Given the description of an element on the screen output the (x, y) to click on. 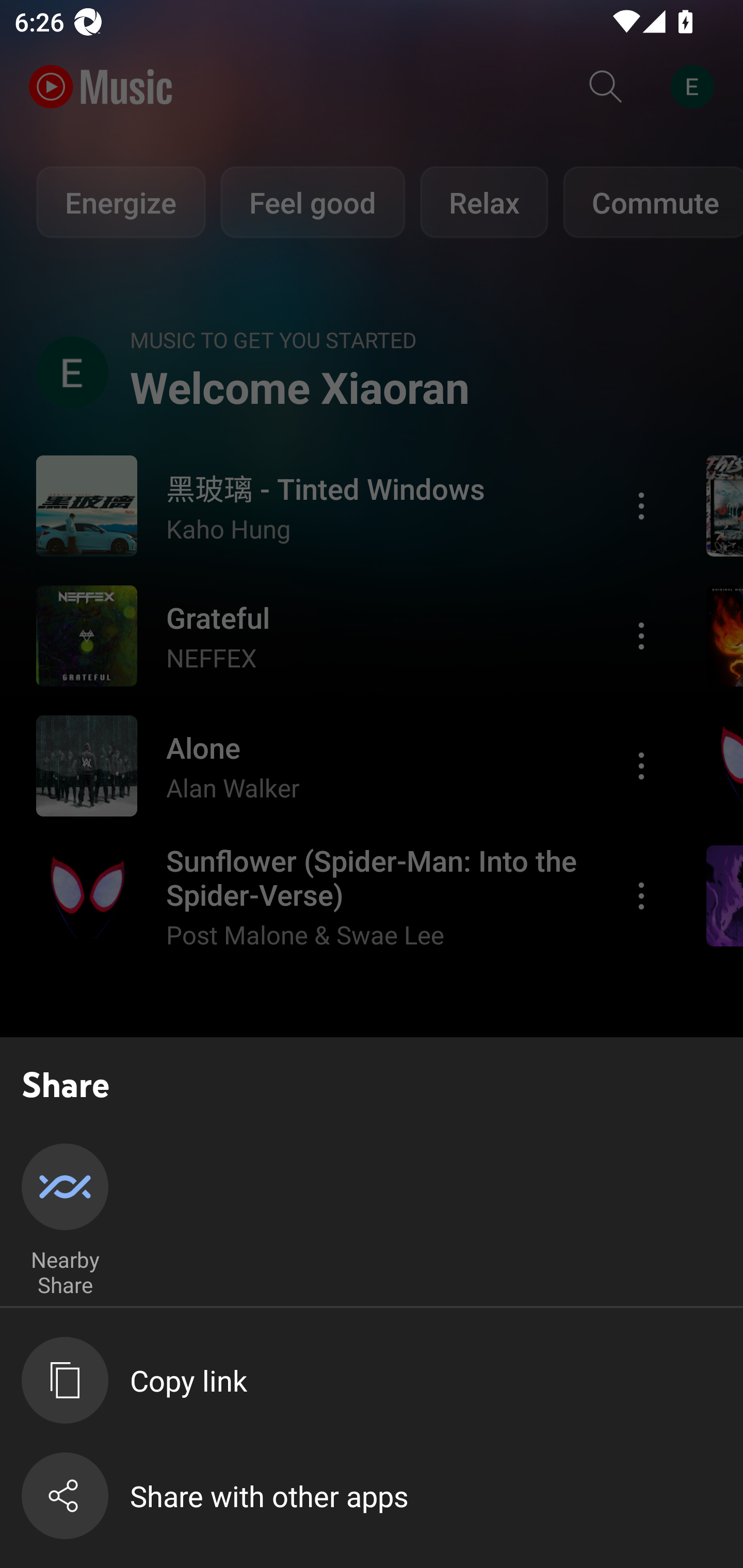
Nearby Share (64, 1221)
Copy link (382, 1380)
Share with other apps (382, 1495)
